Given the description of an element on the screen output the (x, y) to click on. 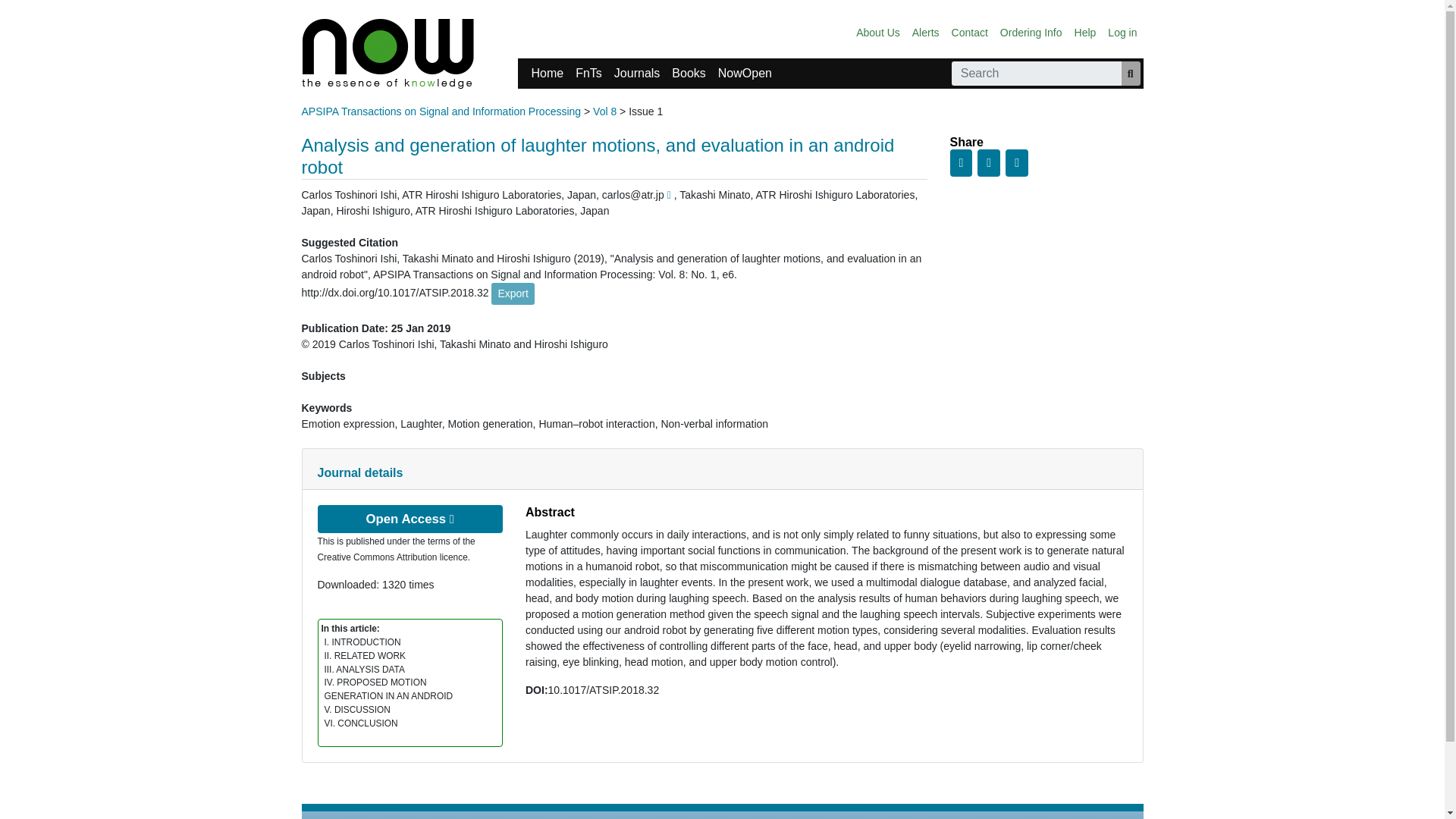
Open Access (409, 519)
Ordering Info (1031, 32)
NowOpen (744, 73)
Journal details (360, 472)
Export (513, 293)
About Us (877, 32)
APSIPA Transactions on Signal and Information Processing (440, 111)
Home (546, 73)
Journals (636, 73)
Contact (969, 32)
Help (1085, 32)
Books (688, 73)
Alerts (924, 32)
Vol 8 (603, 111)
Log in (1122, 32)
